Given the description of an element on the screen output the (x, y) to click on. 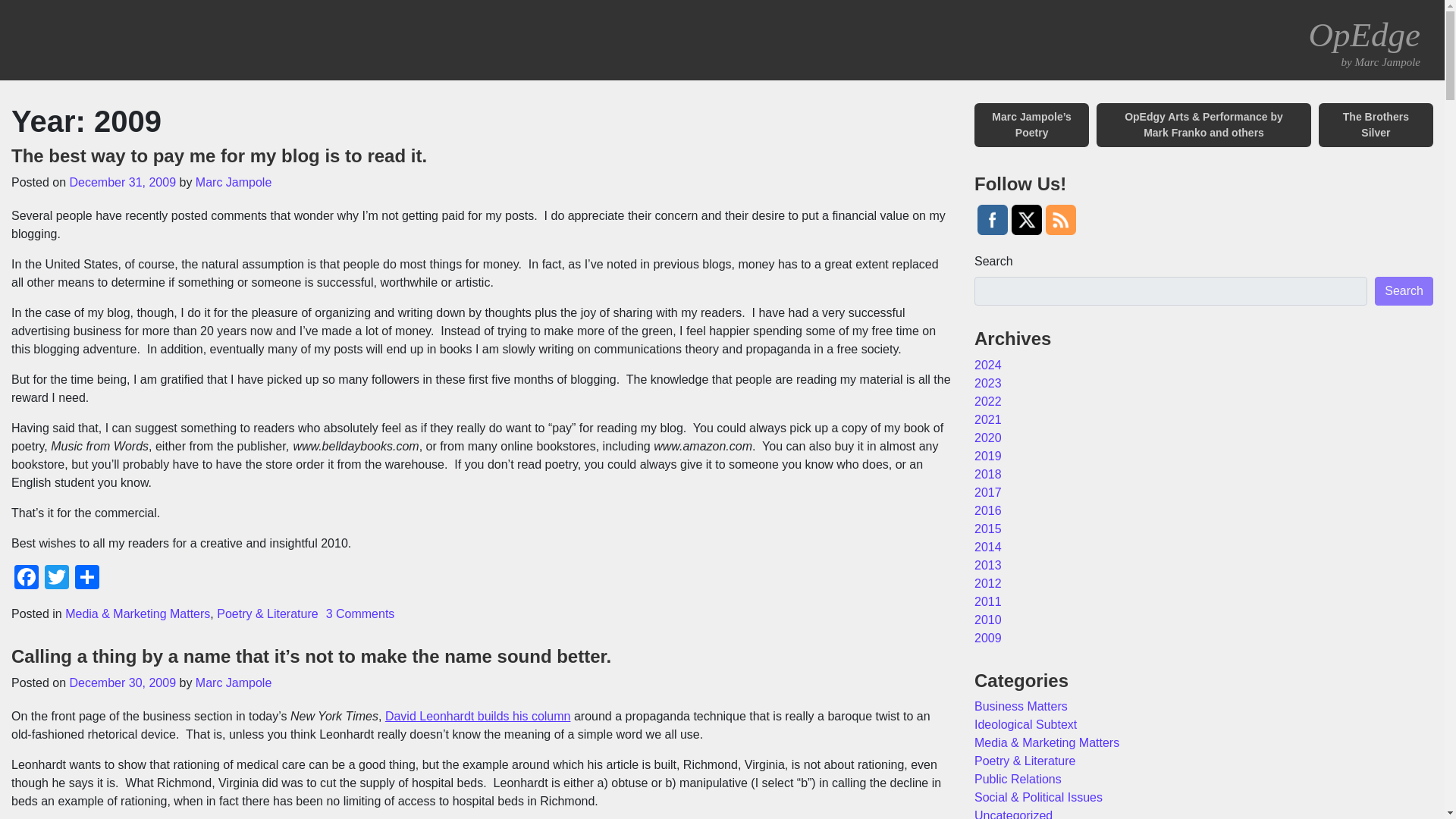
Facebook (26, 578)
David Leonhardt builds his column (477, 716)
December 30, 2009 (122, 682)
Twitter (56, 578)
Marc Jampole (232, 682)
Twitter (56, 578)
Facebook (26, 578)
December 31, 2009 (122, 182)
The best way to pay me for my blog is to read it. (218, 155)
